Given the description of an element on the screen output the (x, y) to click on. 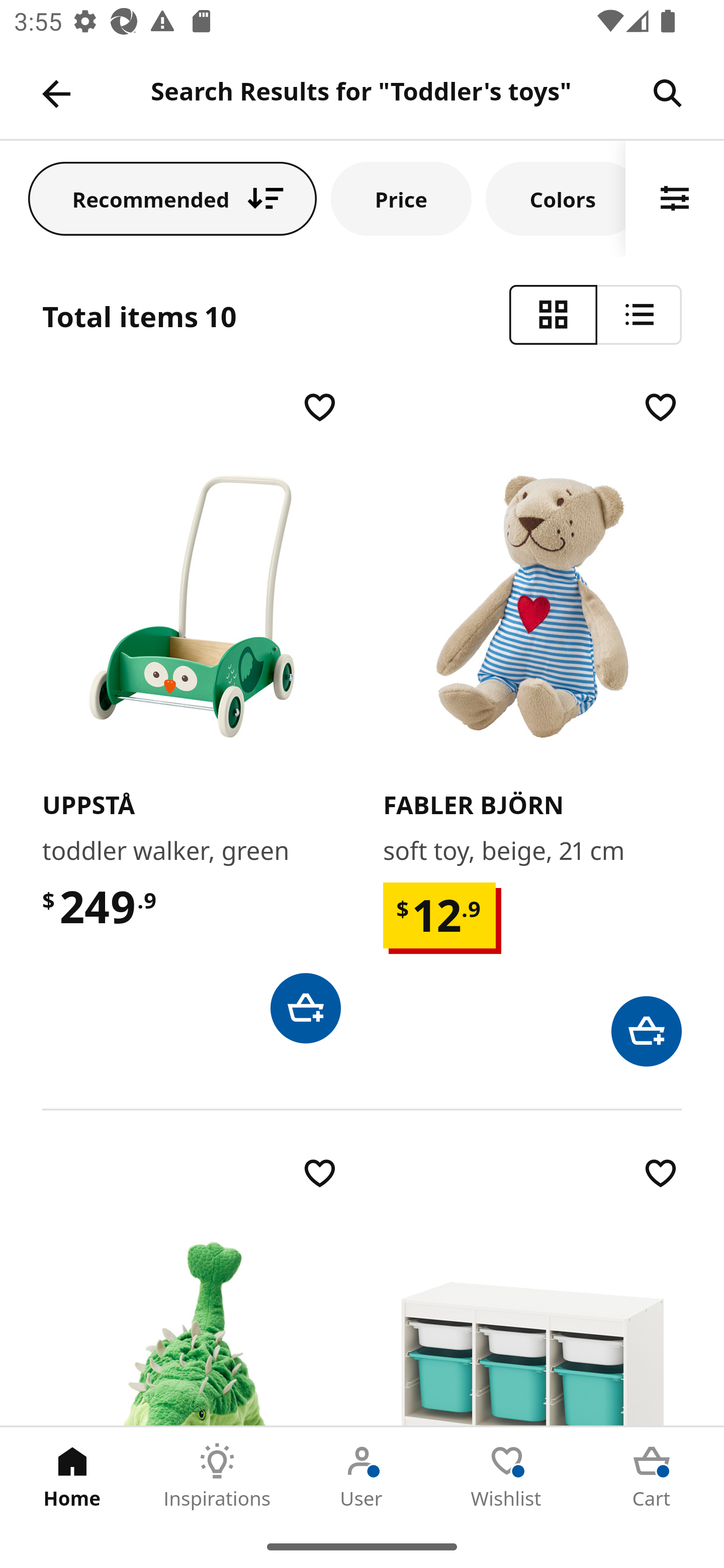
Recommended (172, 198)
Price (400, 198)
Colors (555, 198)
​U​P​P​S​T​Å​
toddler walker, green
$
249
.9 (191, 714)
Home
Tab 1 of 5 (72, 1476)
Inspirations
Tab 2 of 5 (216, 1476)
User
Tab 3 of 5 (361, 1476)
Wishlist
Tab 4 of 5 (506, 1476)
Cart
Tab 5 of 5 (651, 1476)
